Given the description of an element on the screen output the (x, y) to click on. 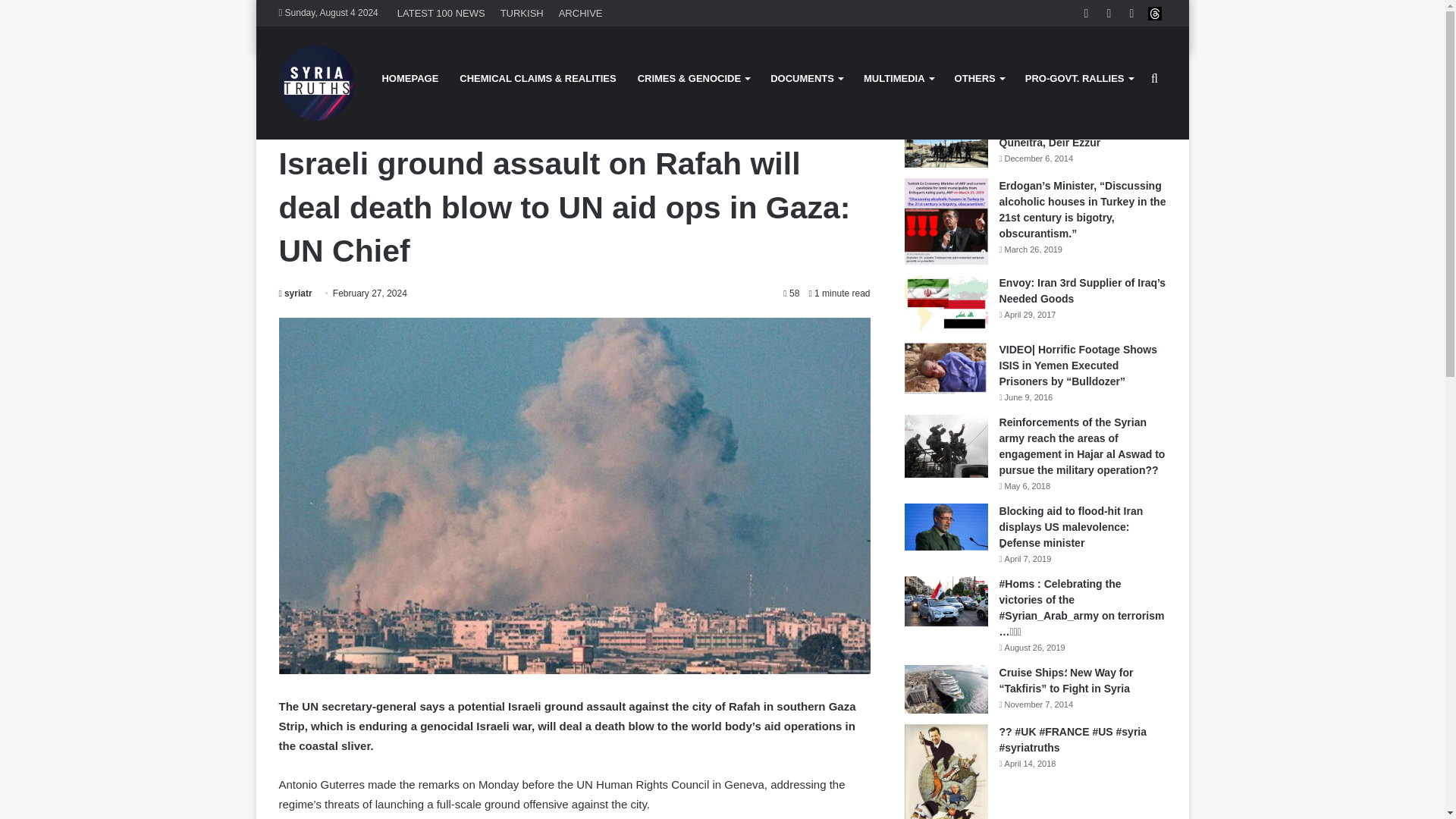
ARCHIVE (580, 13)
PRO-GOVT. RALLIES (1078, 78)
LATEST 100 NEWS (441, 13)
TURKISH (522, 13)
Home (295, 82)
syriatr (296, 293)
